Given the description of an element on the screen output the (x, y) to click on. 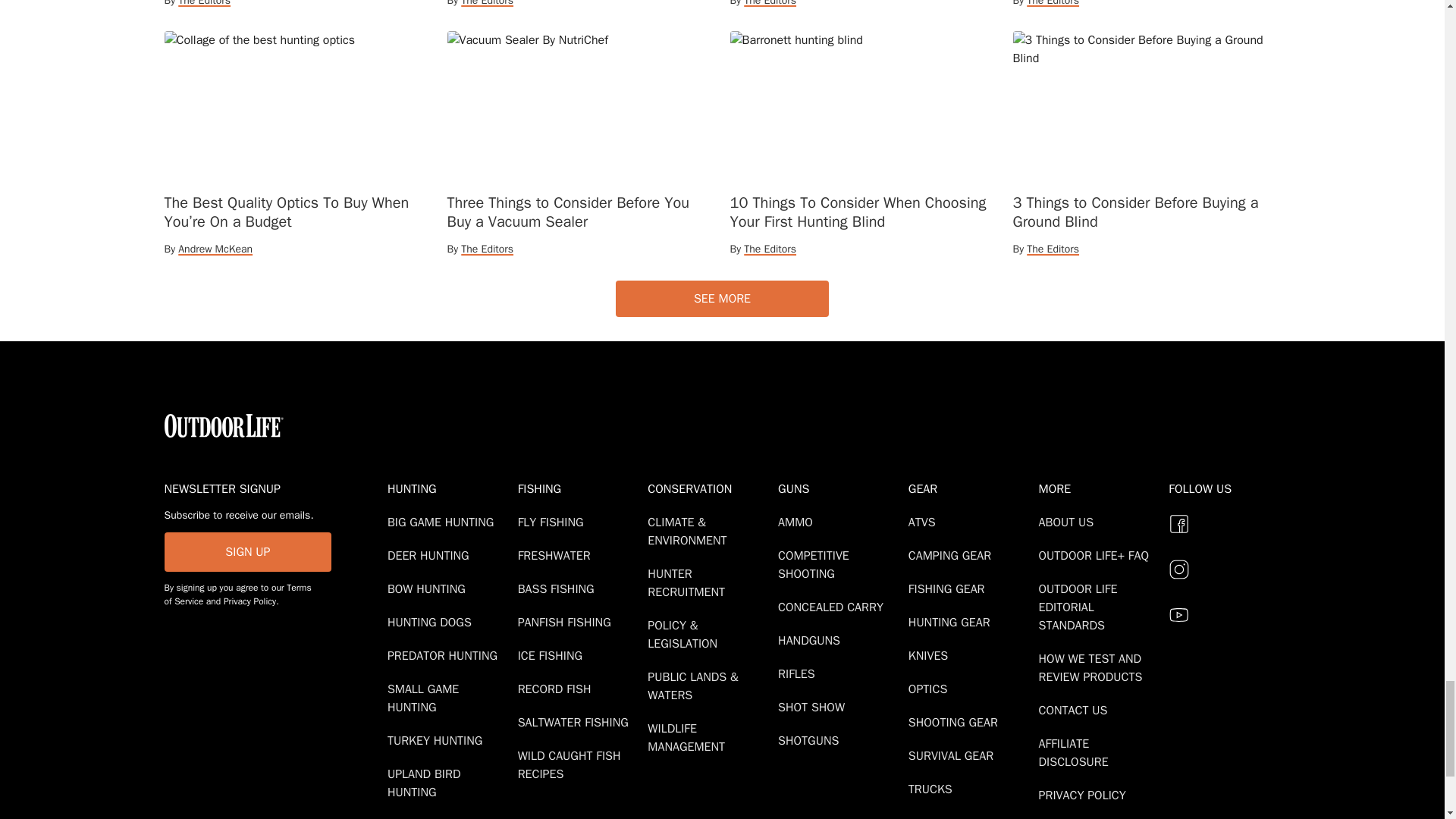
Big Game Hunting (443, 522)
Deer Hunting (431, 555)
Hunting (449, 488)
Fishing (580, 488)
